Given the description of an element on the screen output the (x, y) to click on. 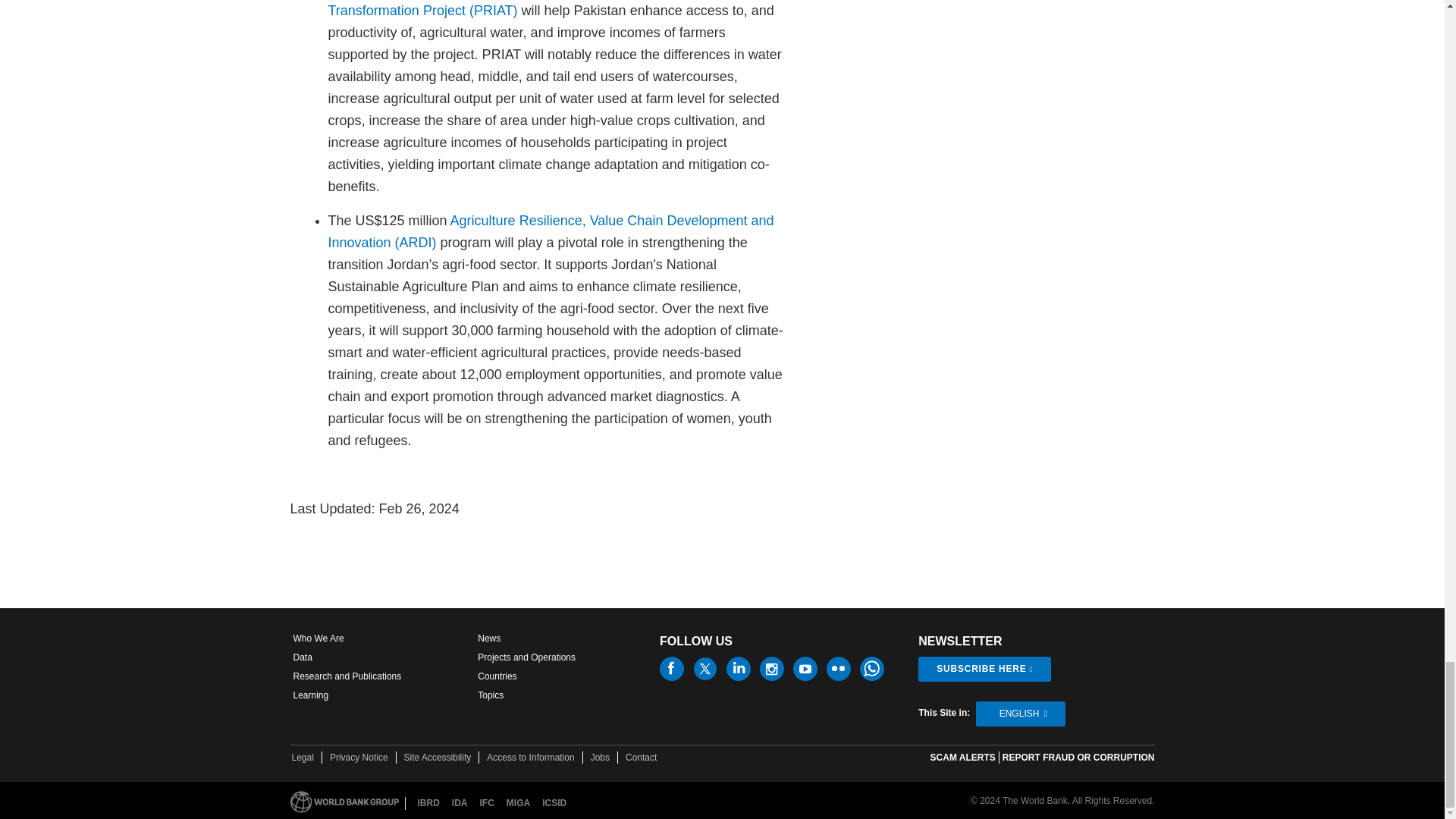
International Centre for Settlement of Investment Disputes (553, 802)
Multilateral Investment Guarantee Agency (517, 802)
World Bank Group logo (343, 802)
International Bank for Reconstruction and Development (427, 802)
International Finance Corporation (487, 802)
International Development Association (459, 802)
